Given the description of an element on the screen output the (x, y) to click on. 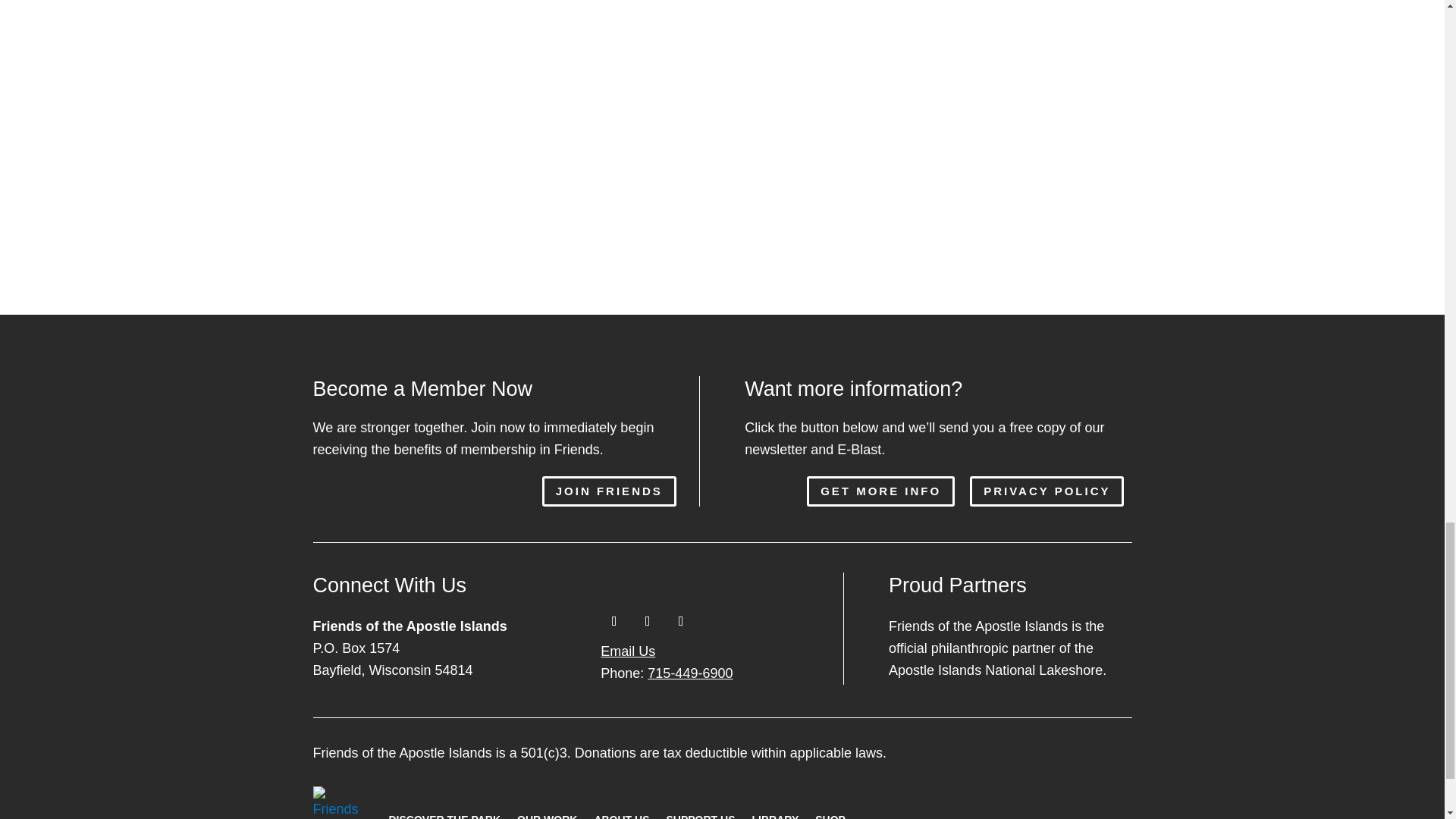
Follow on Facebook (613, 620)
Click to call us (665, 672)
Follow on Youtube (680, 620)
Click to send Friends and email (627, 651)
Follow on Instagram (647, 620)
